Given the description of an element on the screen output the (x, y) to click on. 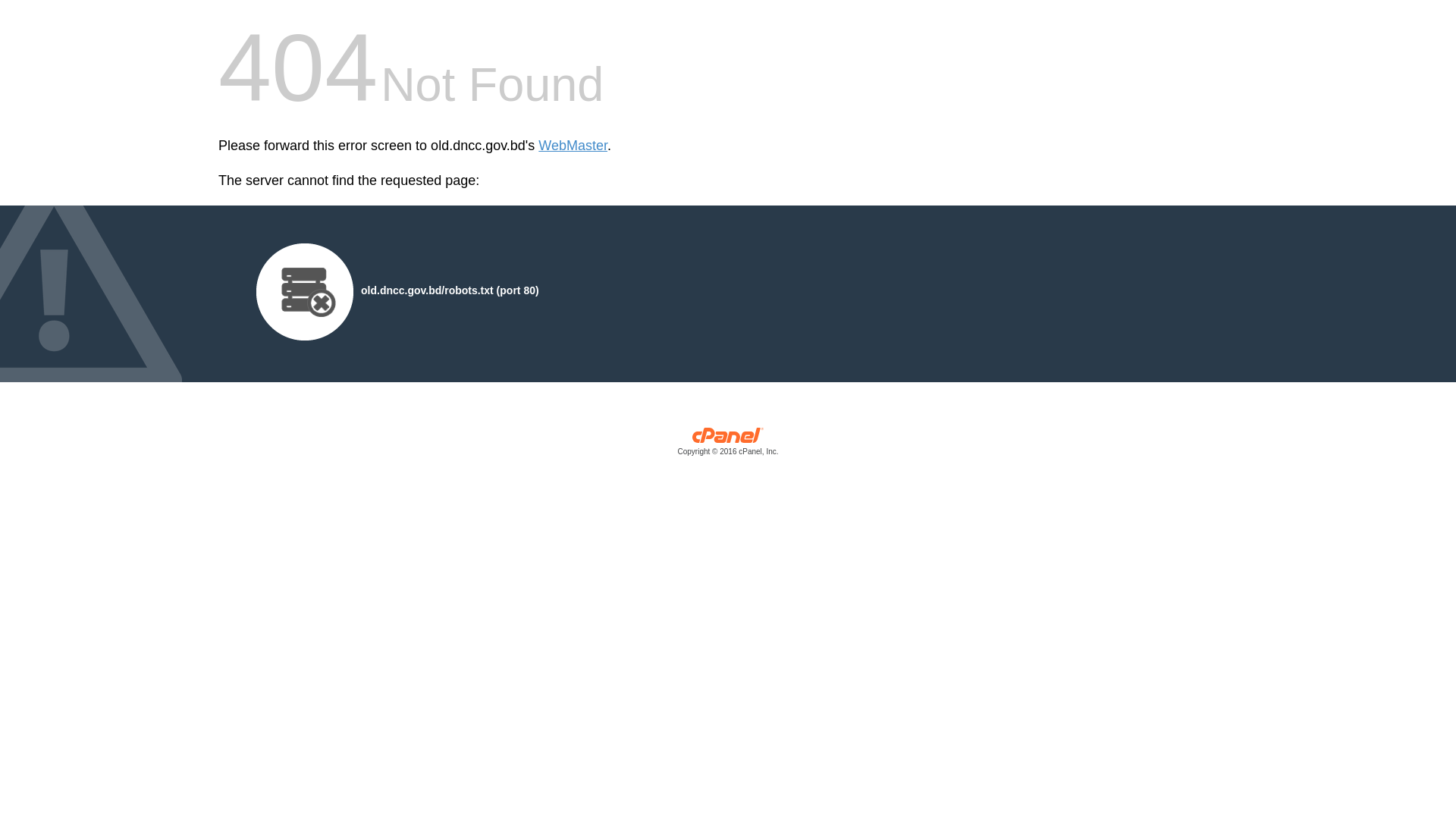
WebMaster Element type: text (572, 145)
